Given the description of an element on the screen output the (x, y) to click on. 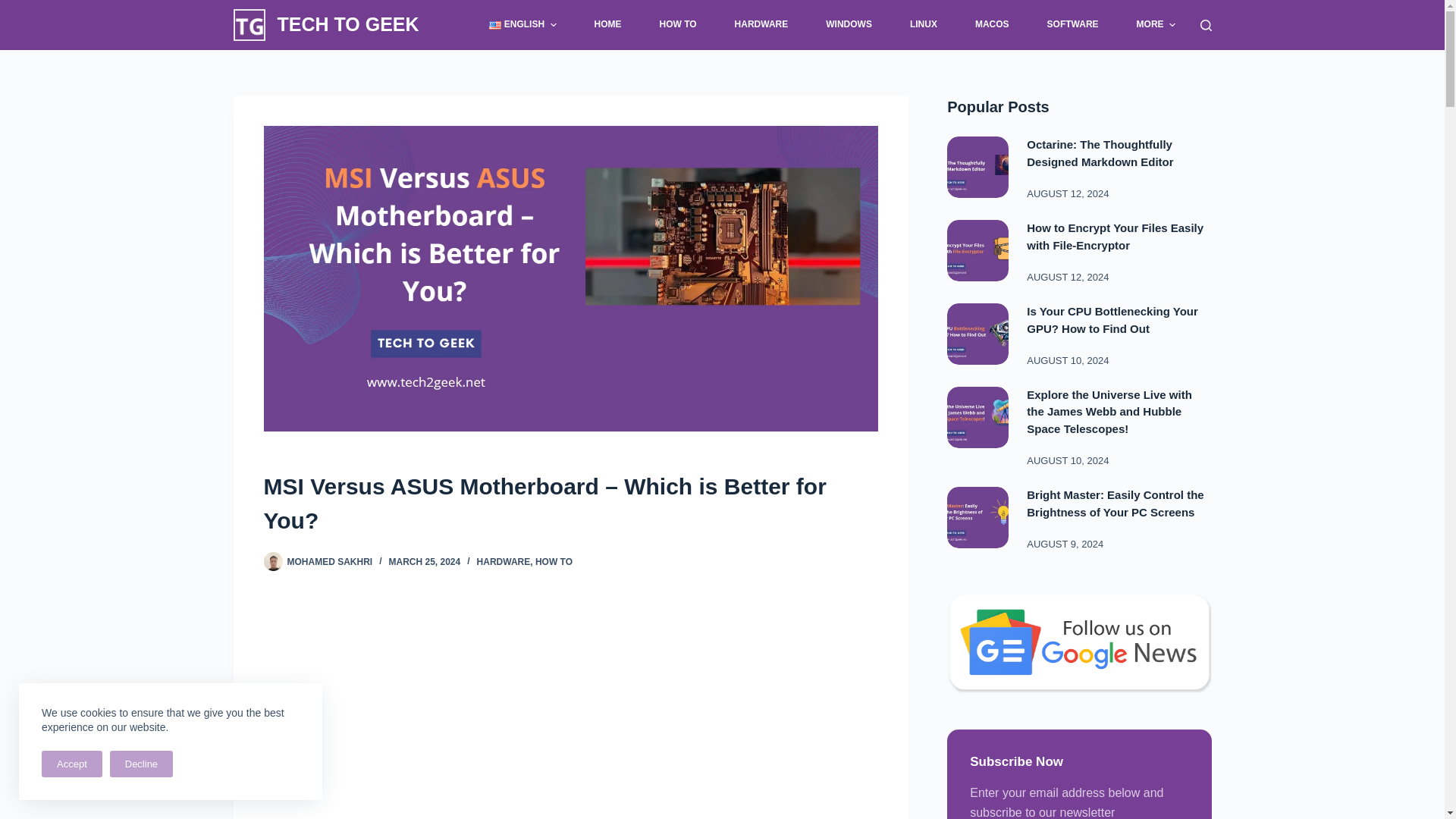
Decline (141, 764)
HOME (607, 24)
TECH TO GEEK (348, 24)
Accept (71, 764)
ENGLISH (523, 24)
WINDOWS (849, 24)
Skip to content (15, 7)
MACOS (991, 24)
HOW TO (677, 24)
HARDWARE (761, 24)
